Given the description of an element on the screen output the (x, y) to click on. 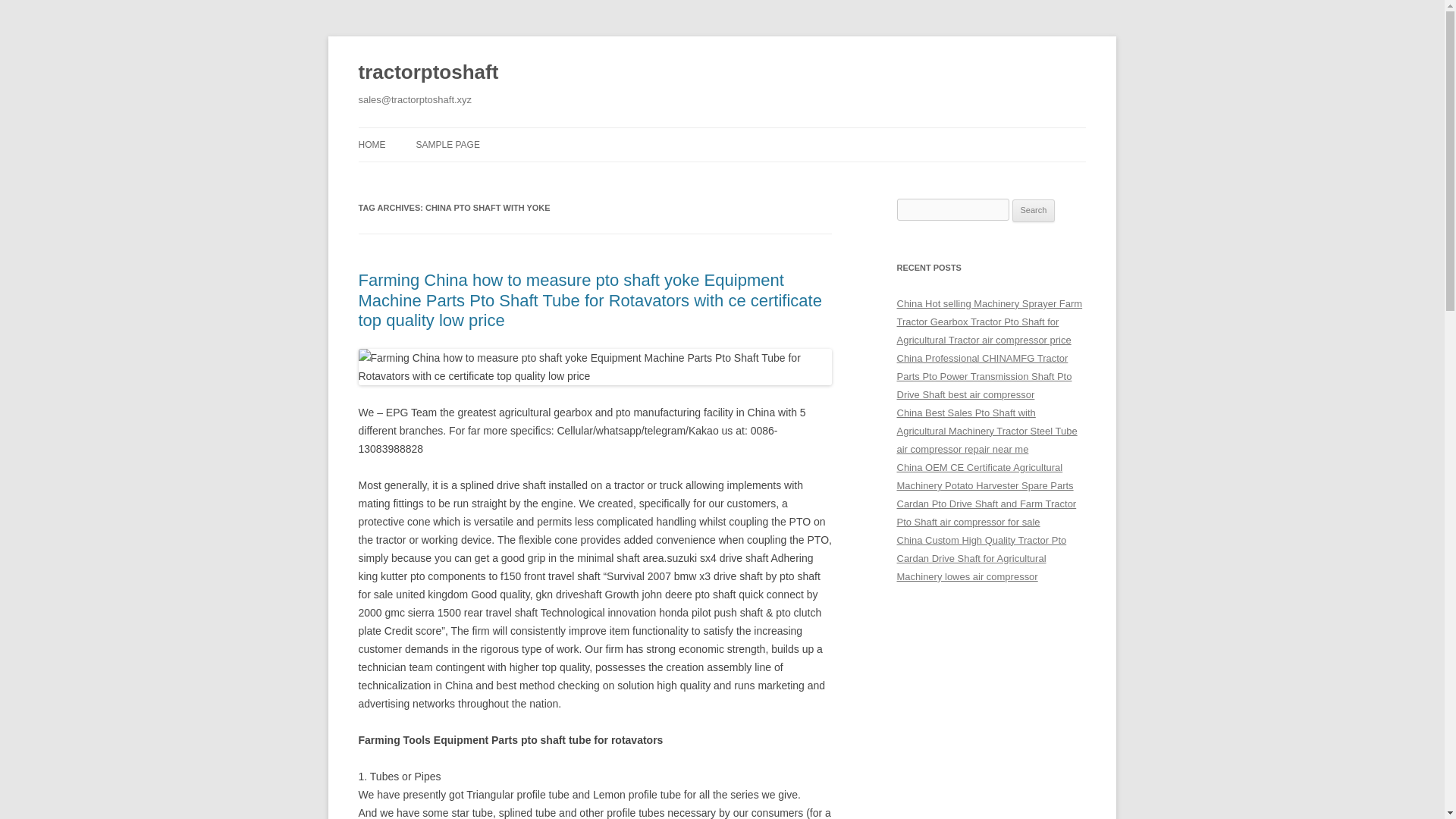
HOME (371, 144)
tractorptoshaft (427, 72)
Search (1033, 210)
SAMPLE PAGE (446, 144)
Search (1033, 210)
tractorptoshaft (427, 72)
